Given the description of an element on the screen output the (x, y) to click on. 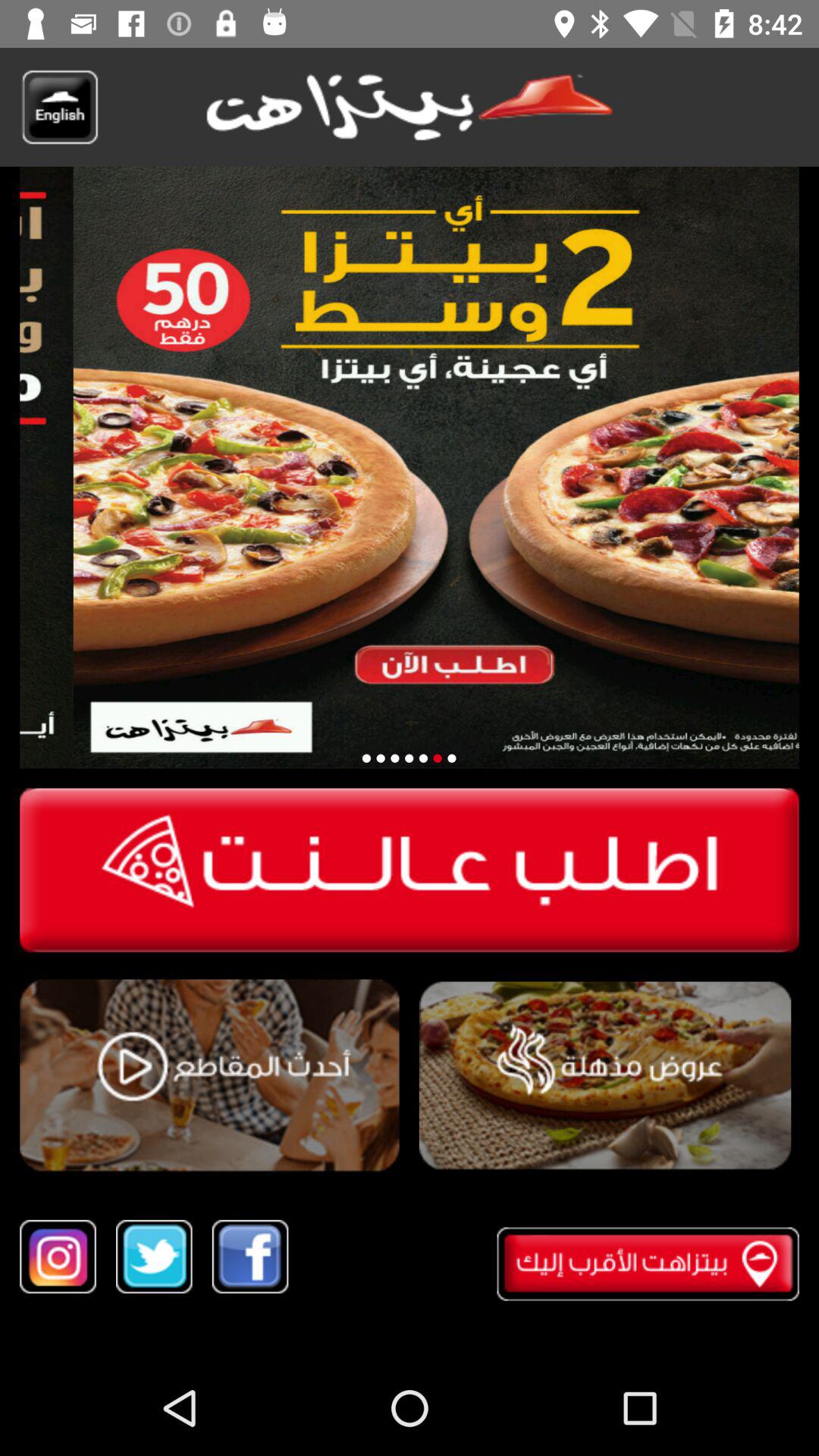
change language to english (58, 106)
